Given the description of an element on the screen output the (x, y) to click on. 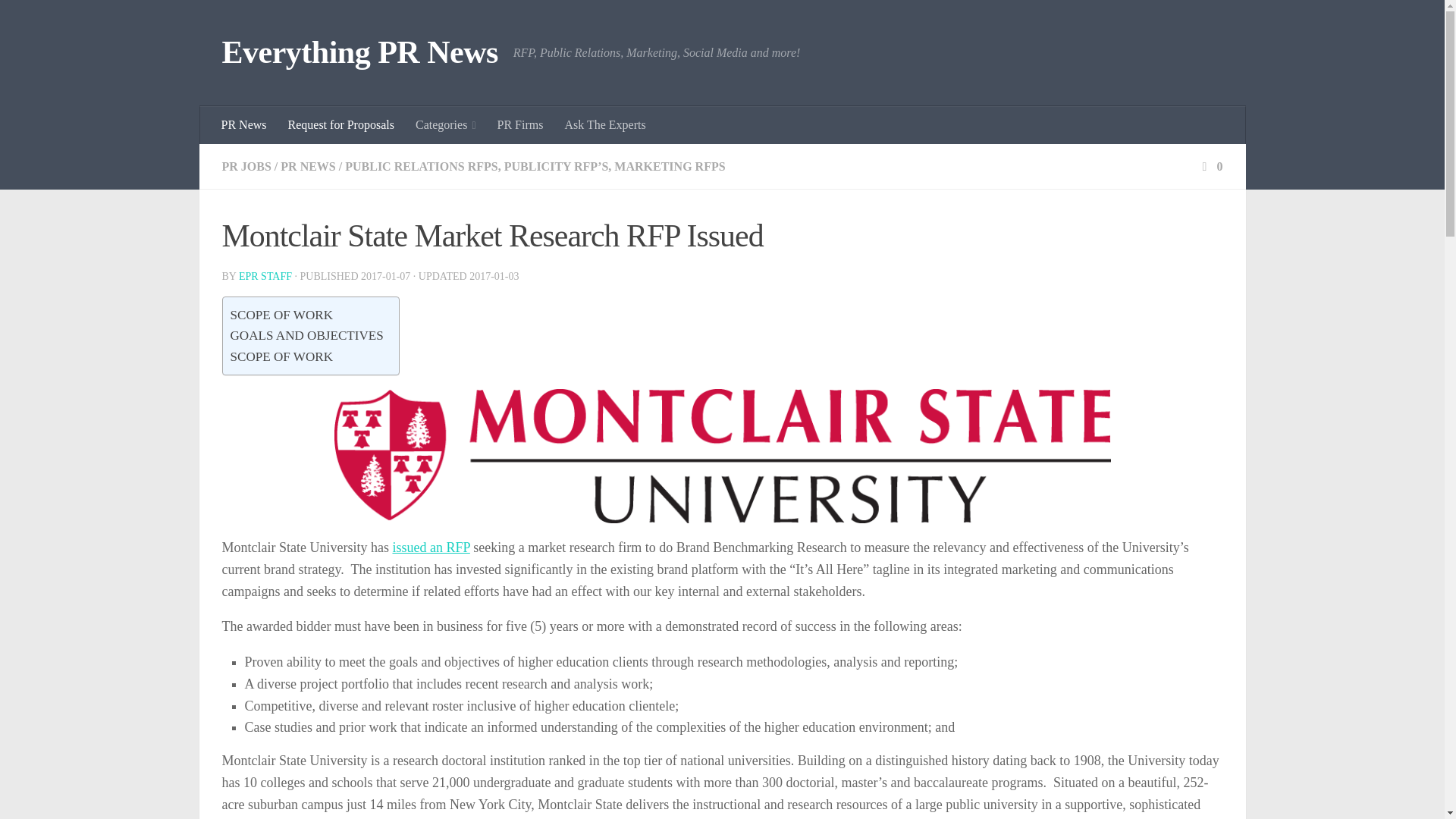
SCOPE OF WORK (281, 314)
Posts by EPR Staff (265, 276)
Skip to content (59, 20)
SCOPE OF WORK (281, 356)
PR News (244, 125)
Request for Proposals (341, 125)
Everything PR News (359, 53)
Categories (445, 125)
GOALS AND OBJECTIVES (307, 335)
